Given the description of an element on the screen output the (x, y) to click on. 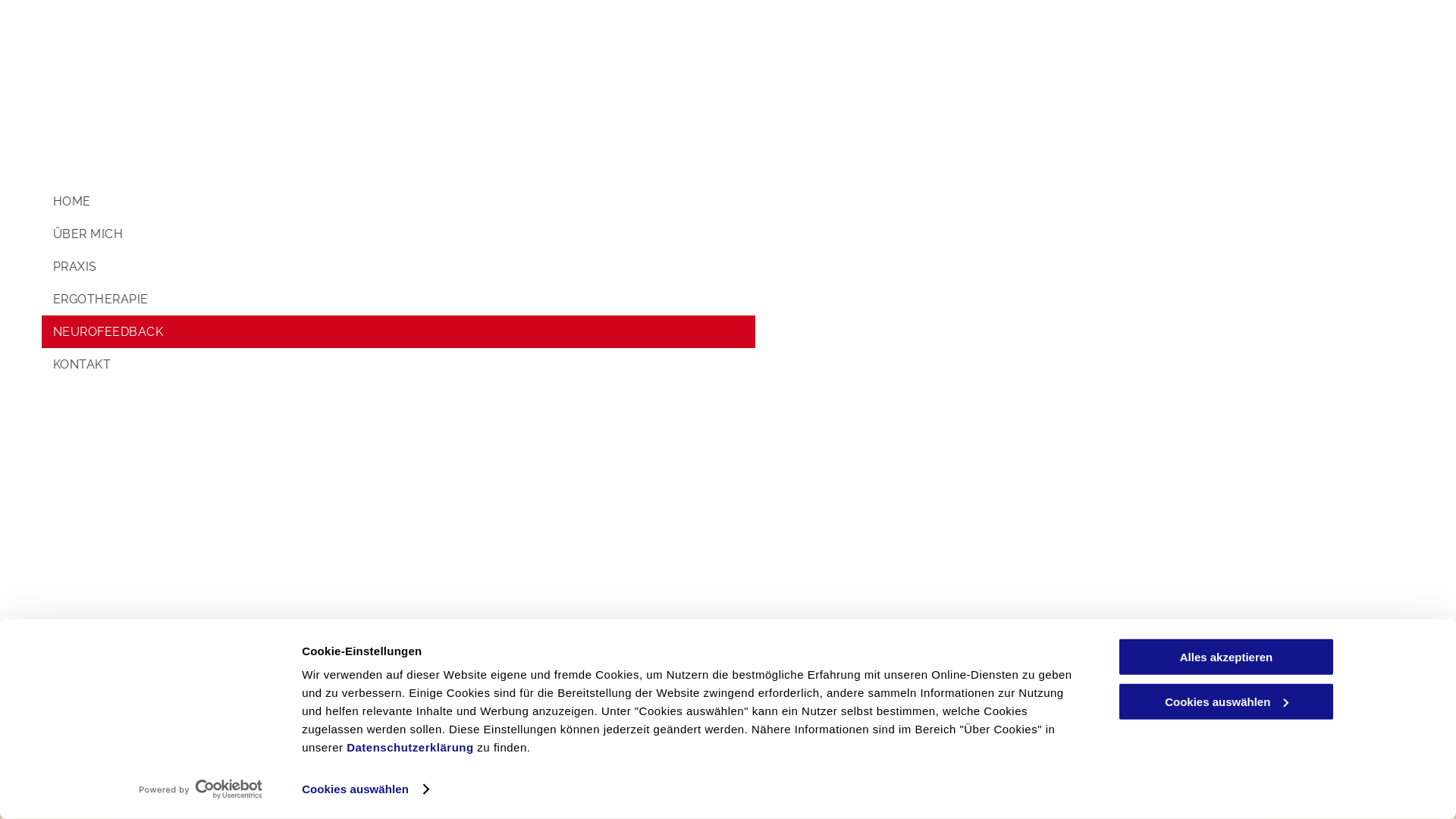
ERGOTHERAPIE Element type: text (398, 298)
NEUROFEEDBACK Element type: text (398, 331)
HOME Element type: text (398, 201)
PRAXIS Element type: text (398, 266)
KONTAKT Element type: text (398, 364)
Alles akzeptieren Element type: text (1225, 656)
